Given the description of an element on the screen output the (x, y) to click on. 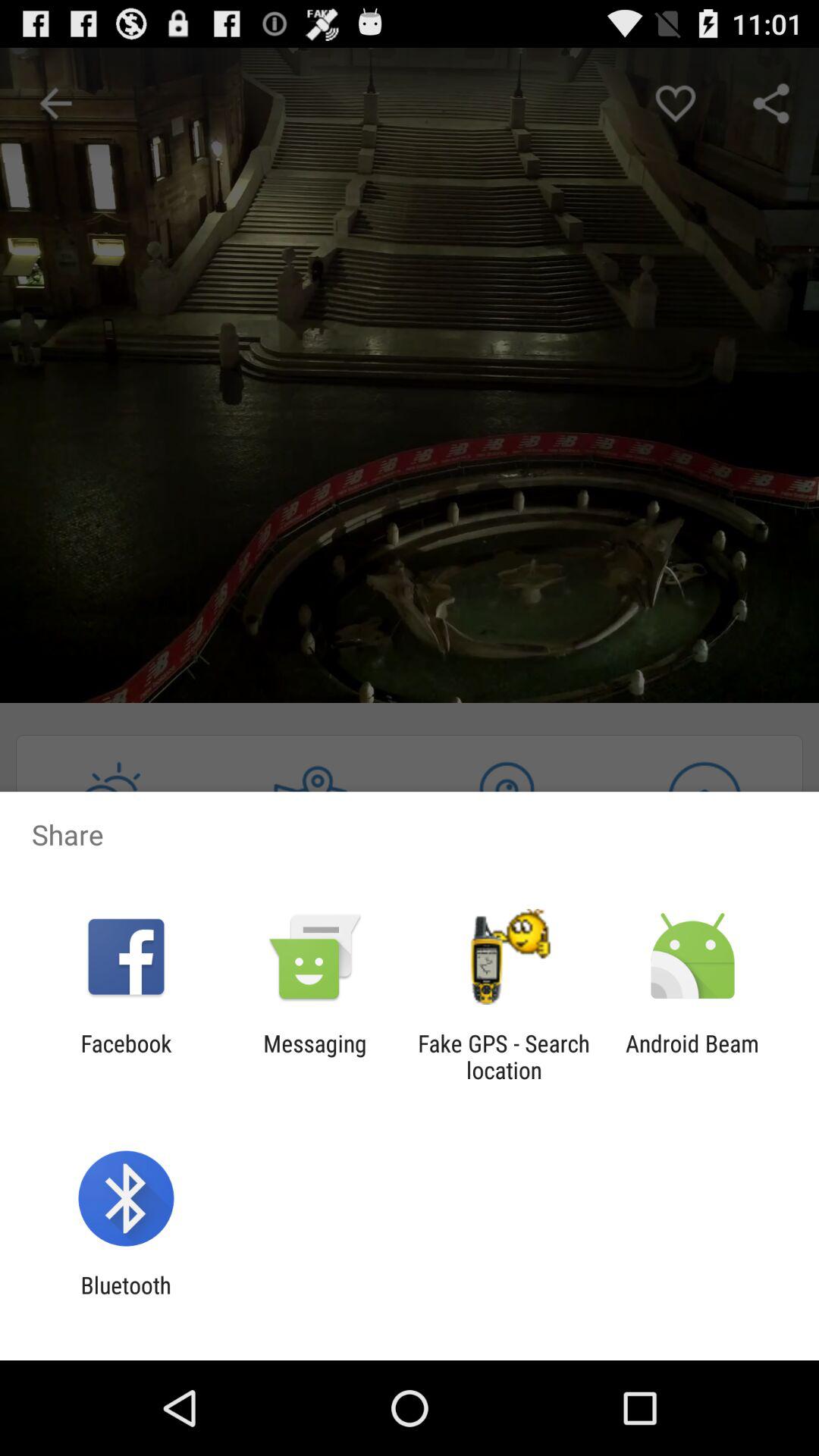
swipe until bluetooth app (125, 1298)
